Given the description of an element on the screen output the (x, y) to click on. 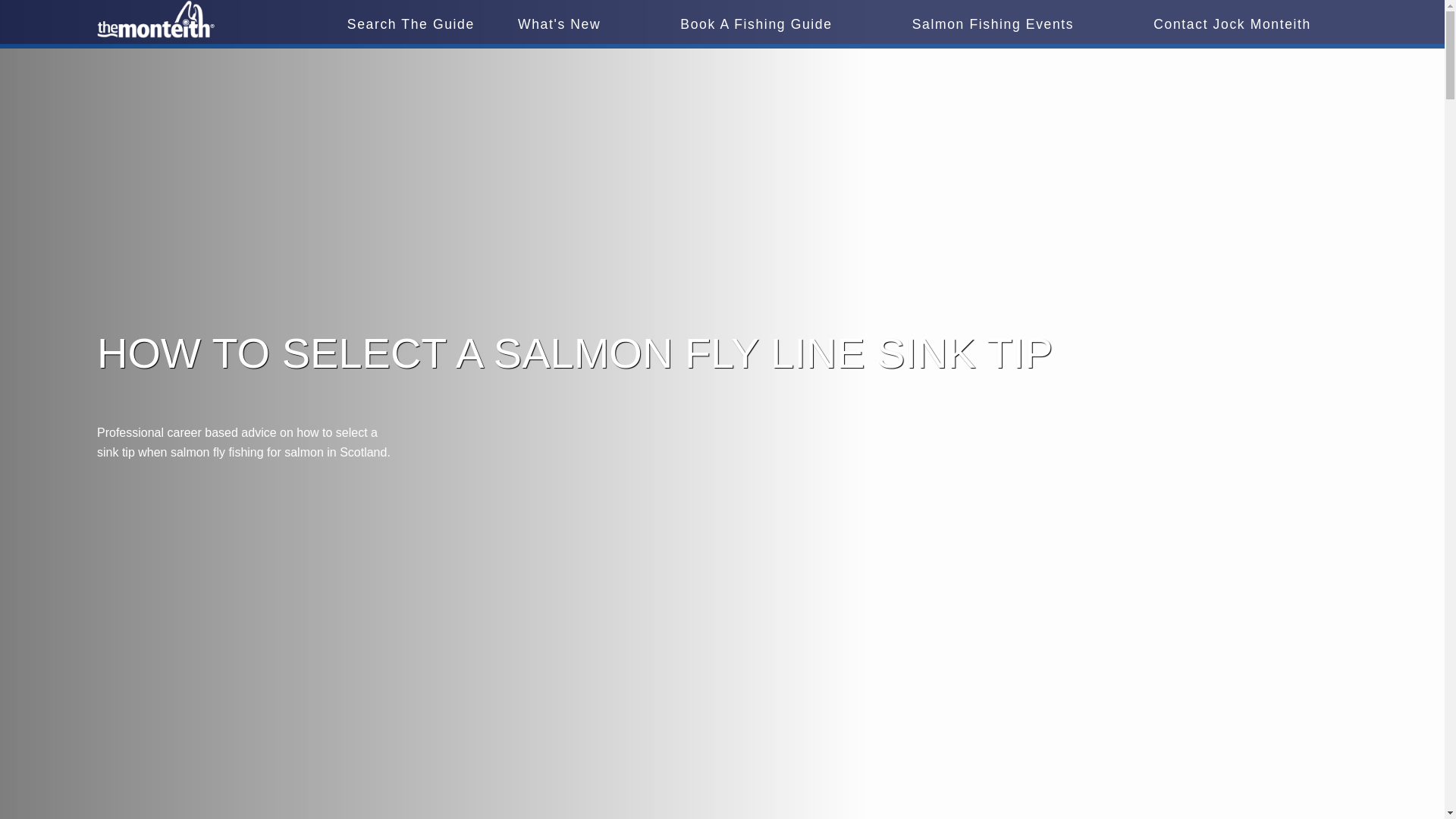
contact Jock Monteith (1232, 23)
Book A Fishing Guide (755, 23)
Salmon Fishing Events (993, 23)
What's New (558, 23)
Contact Jock Monteith (1232, 23)
Search The Guide (410, 23)
Salmon Fishing Events group hospitality (993, 23)
